Given the description of an element on the screen output the (x, y) to click on. 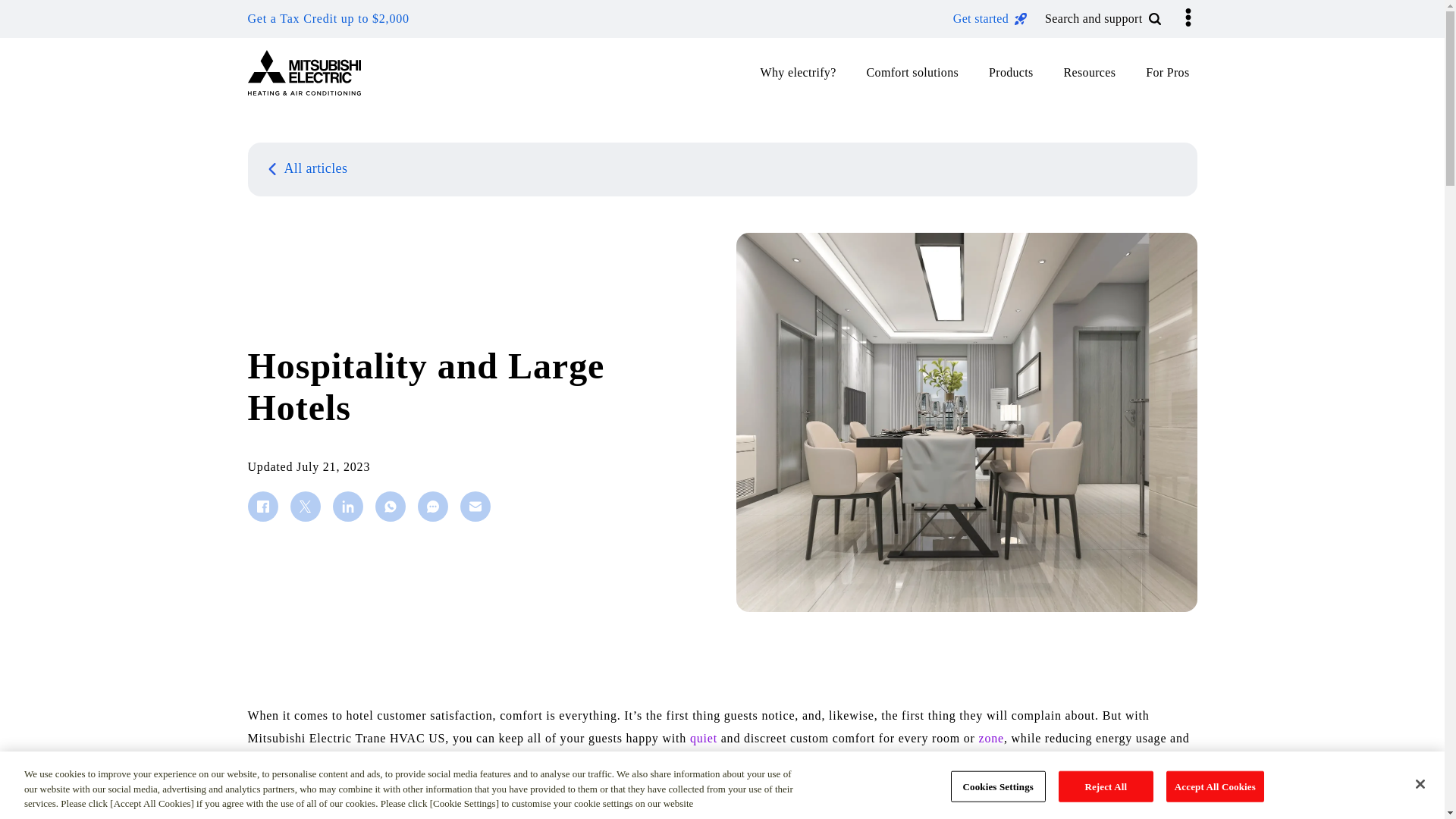
Search and support (1102, 18)
Why electrify? (807, 72)
Why electrify? (796, 72)
Comfort solutions (921, 72)
Comfort solutions (911, 72)
Get started (989, 18)
